Given the description of an element on the screen output the (x, y) to click on. 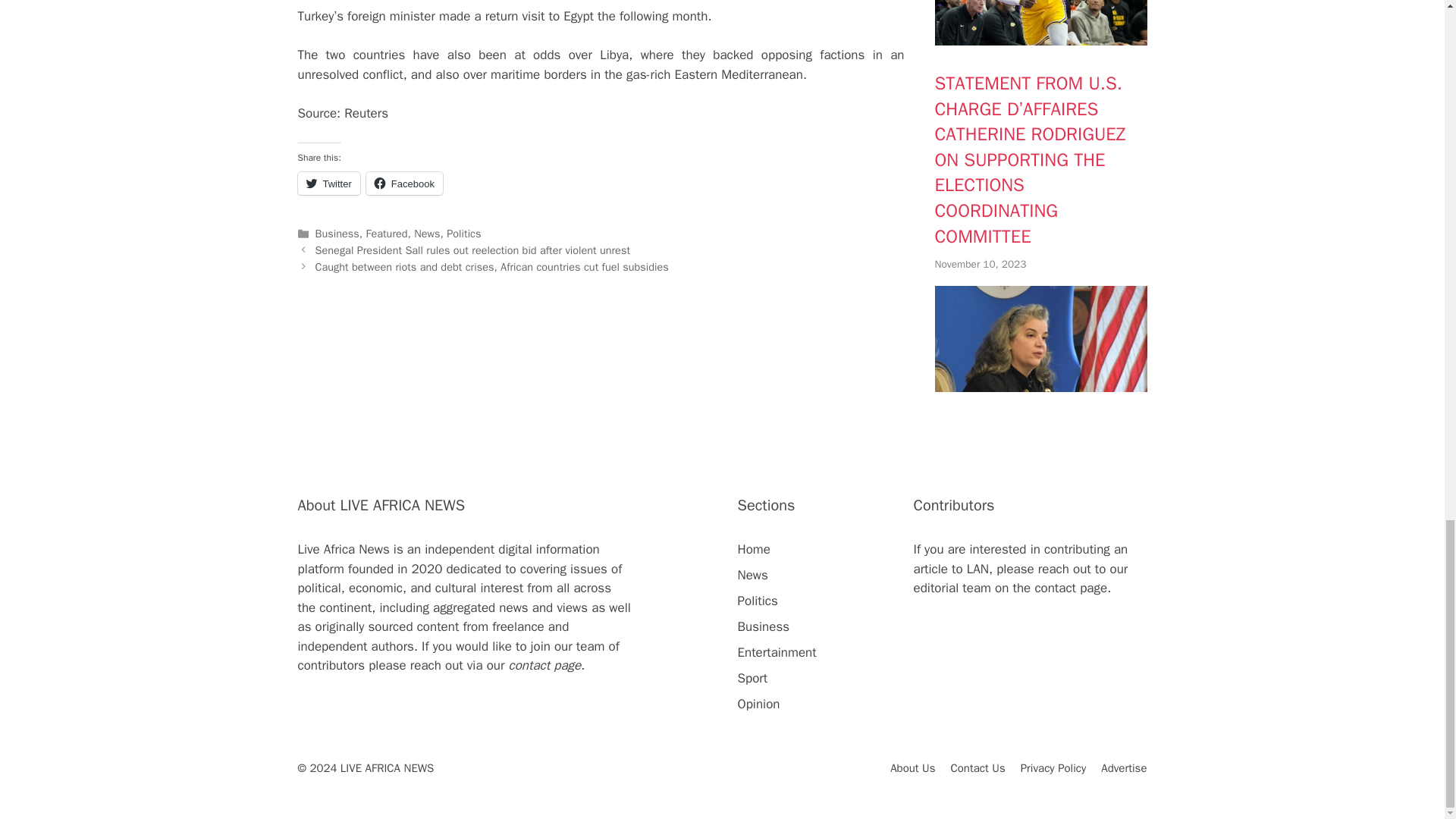
Politics (463, 233)
Facebook (404, 182)
Click to share on Facebook (404, 182)
Home (753, 549)
Business (337, 233)
News (751, 575)
4:58 pm (980, 264)
Click to share on Twitter (328, 182)
Twitter (328, 182)
contact page (544, 665)
Featured (386, 233)
November 10, 2023 (980, 264)
